Given the description of an element on the screen output the (x, y) to click on. 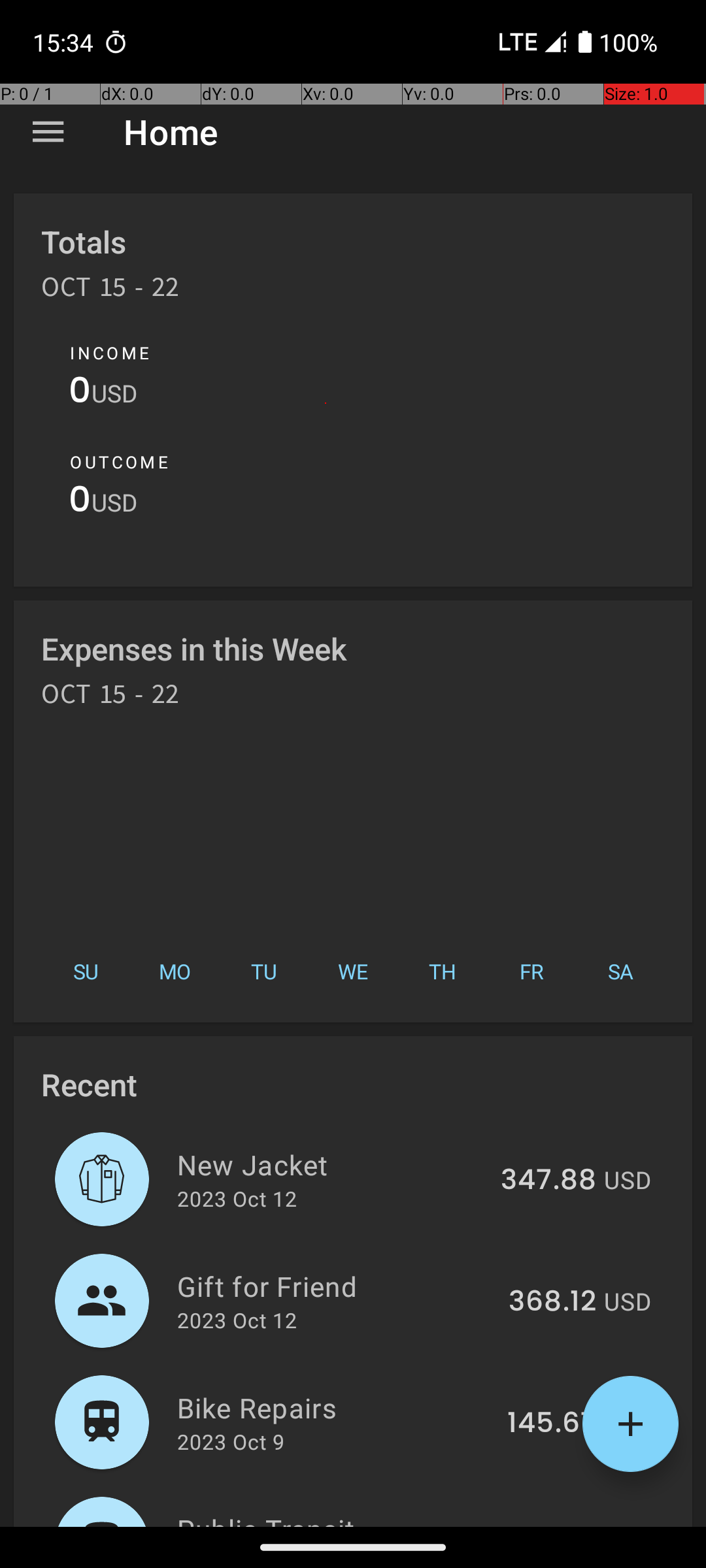
New Jacket Element type: android.widget.TextView (331, 1164)
347.88 Element type: android.widget.TextView (548, 1180)
Gift for Friend Element type: android.widget.TextView (335, 1285)
368.12 Element type: android.widget.TextView (551, 1301)
Bike Repairs Element type: android.widget.TextView (334, 1407)
145.67 Element type: android.widget.TextView (551, 1423)
Public Transit Element type: android.widget.TextView (333, 1518)
154.05 Element type: android.widget.TextView (550, 1524)
